Given the description of an element on the screen output the (x, y) to click on. 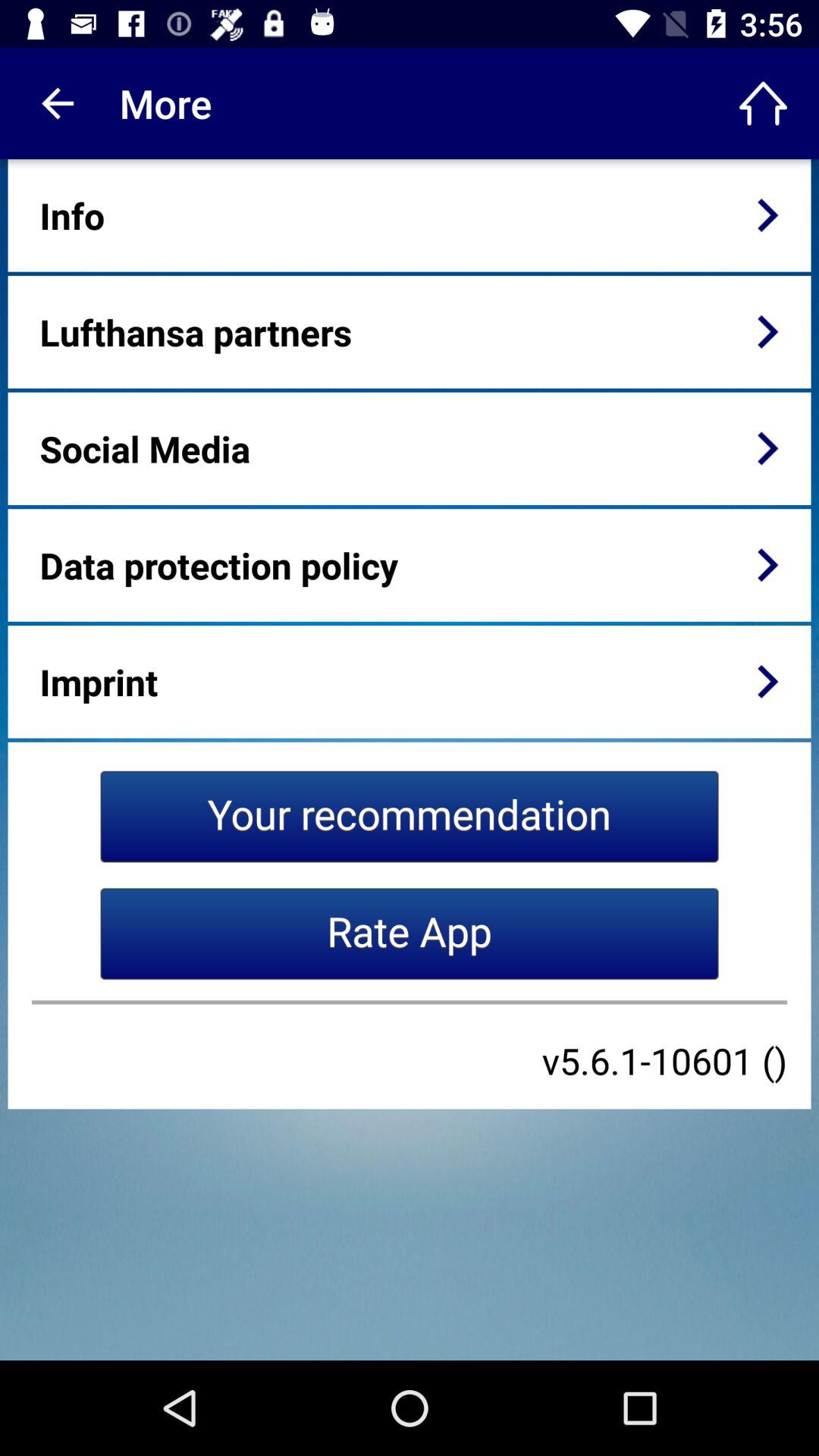
press item to the right of lufthansa partners (768, 331)
